Given the description of an element on the screen output the (x, y) to click on. 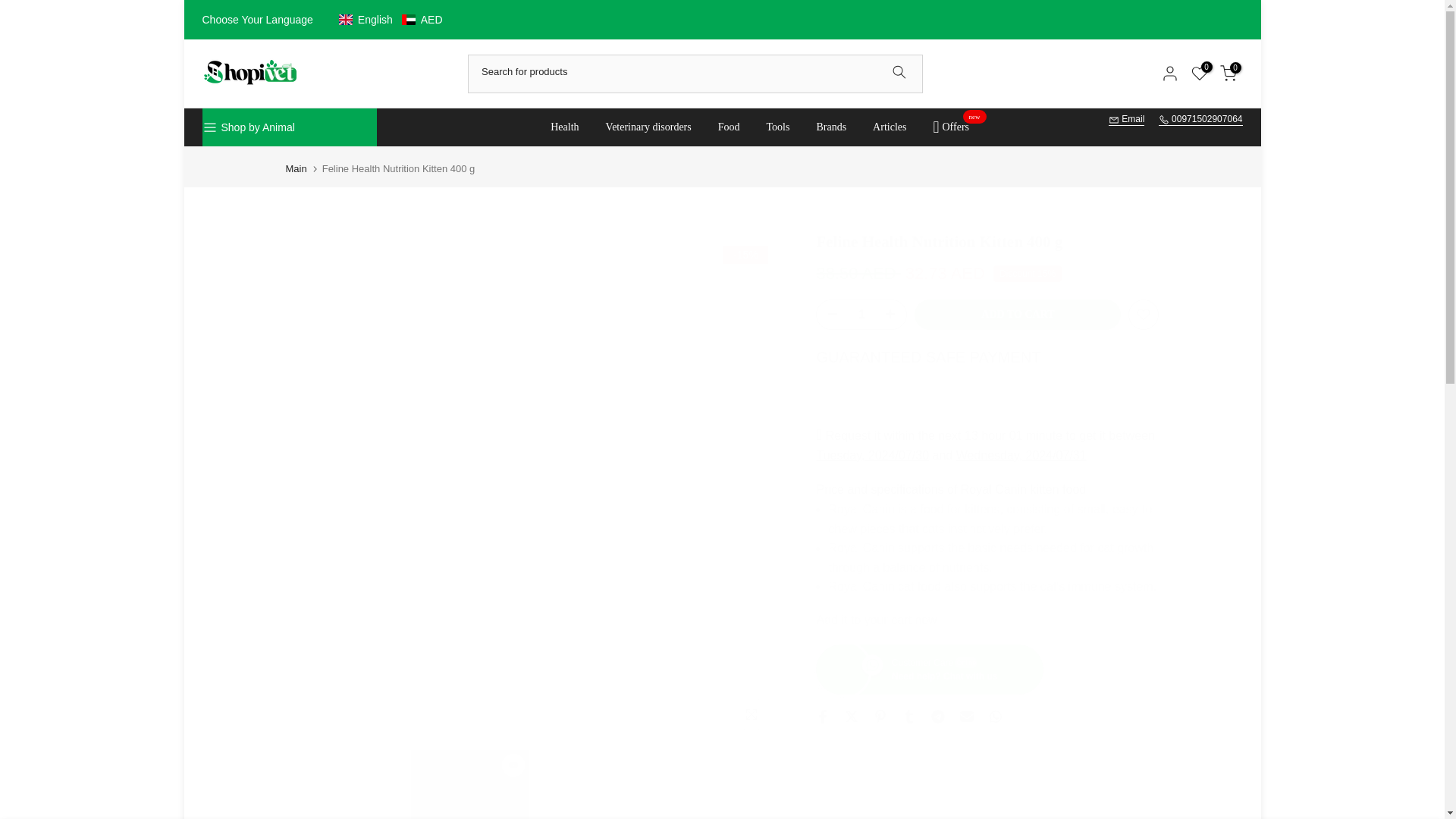
Post on Tumblr (908, 716)
Post by email (966, 716)
0 (1199, 73)
0 (1228, 73)
Post on Twitter (851, 716)
Post on Pinterest (879, 716)
1 (861, 314)
Post on Facebook (822, 716)
Skip to content (10, 7)
Share on WhatsApp (995, 716)
Post on Telegram (937, 716)
